Given the description of an element on the screen output the (x, y) to click on. 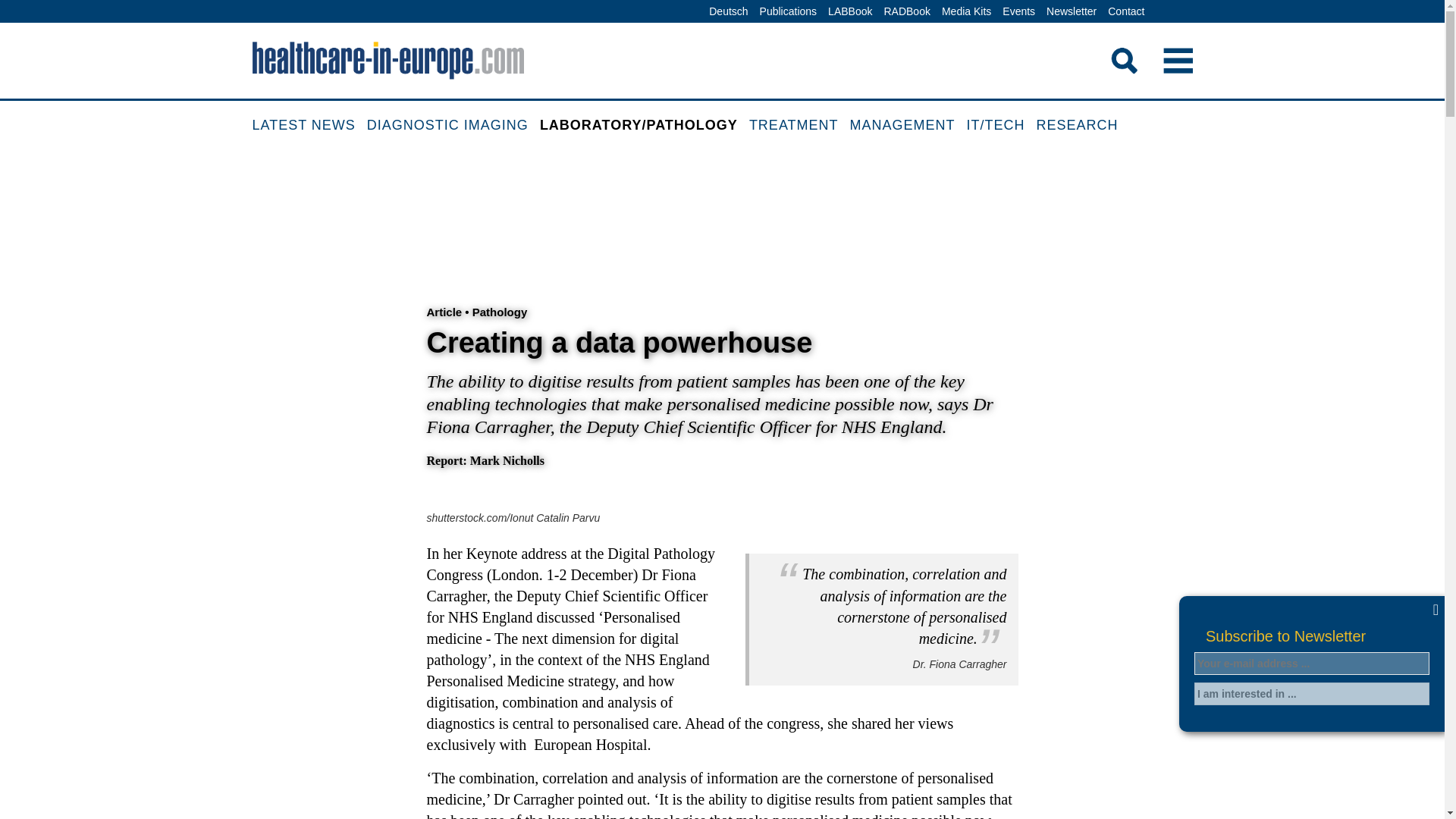
DIAGNOSTIC IMAGING (453, 126)
RESEARCH (1082, 126)
TREATMENT (799, 126)
Deutsch (727, 12)
Contact (1125, 12)
Media Kits (965, 12)
RADBook (906, 12)
Publications (788, 12)
Newsletter (1071, 12)
Events (1018, 12)
LABBook (850, 12)
LATEST NEWS (308, 126)
MANAGEMENT (908, 126)
